Given the description of an element on the screen output the (x, y) to click on. 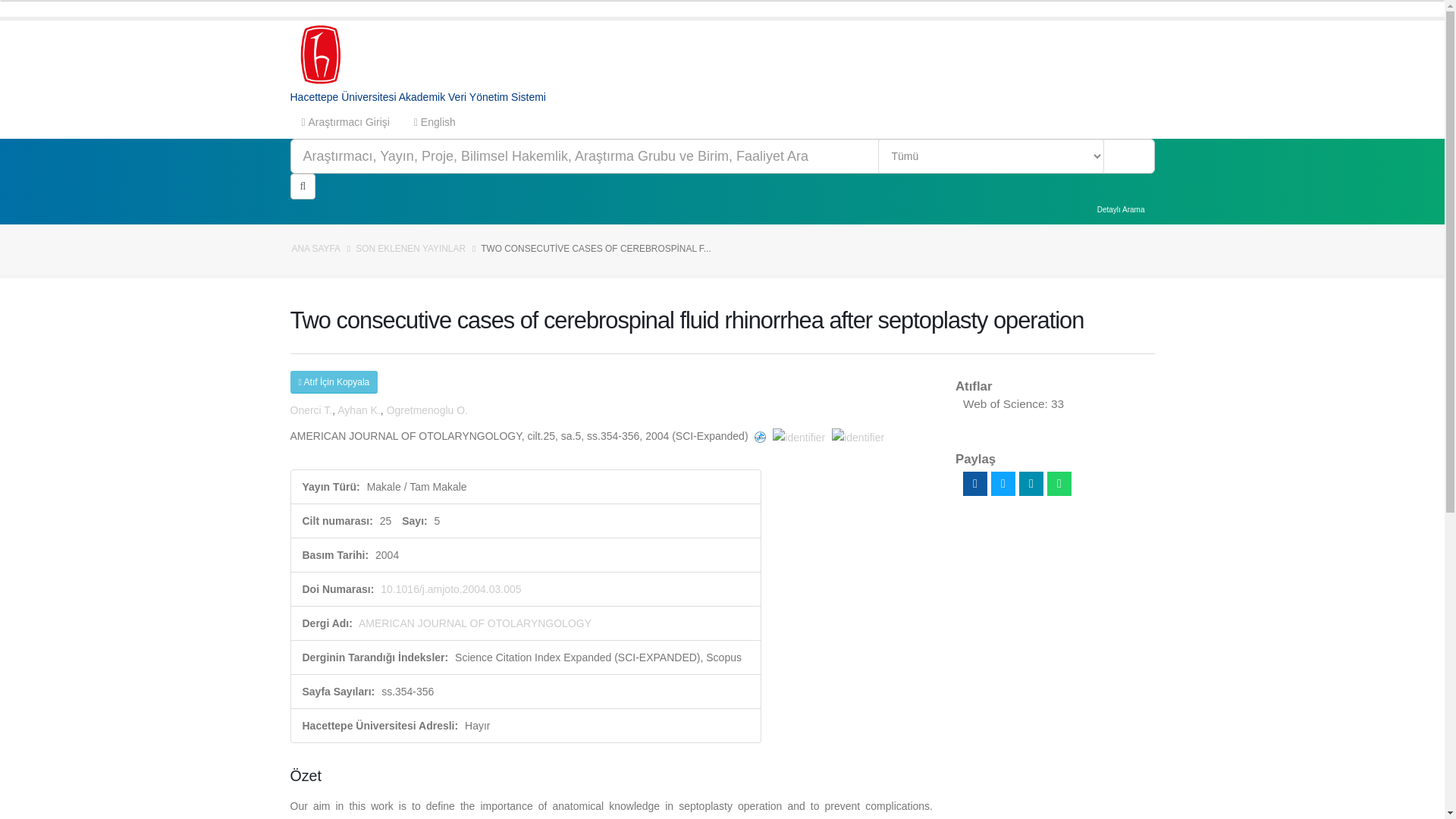
AMERICAN JOURNAL OF OTOLARYNGOLOGY (474, 623)
SON EKLENEN YAYINLAR (410, 248)
TM Onerci (310, 410)
O Ogretmenoglu (427, 410)
English (435, 121)
ANA SAYFA (315, 248)
Ogretmenoglu O. (427, 410)
Onerci T. (310, 410)
K Ayhan (358, 410)
Ayhan K. (358, 410)
